Given the description of an element on the screen output the (x, y) to click on. 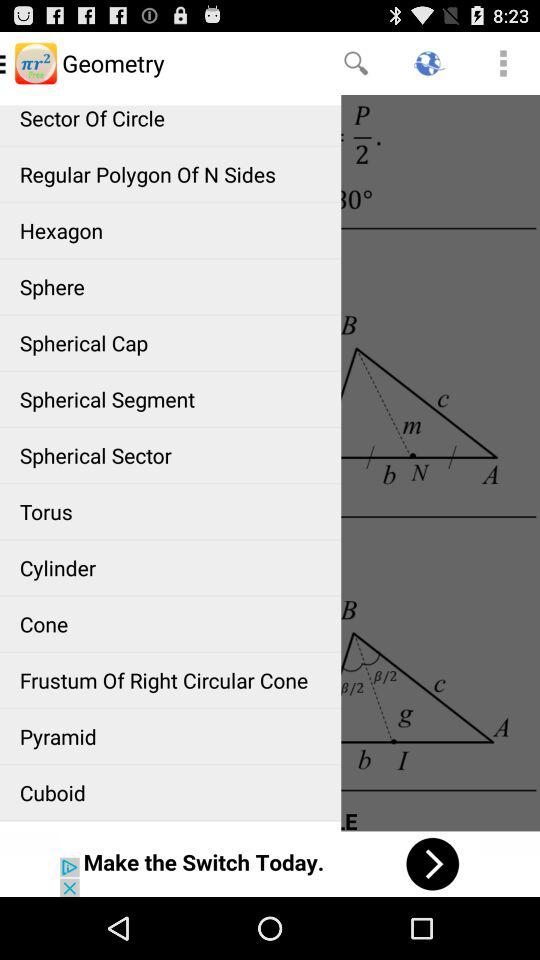
geometry memo (270, 462)
